Given the description of an element on the screen output the (x, y) to click on. 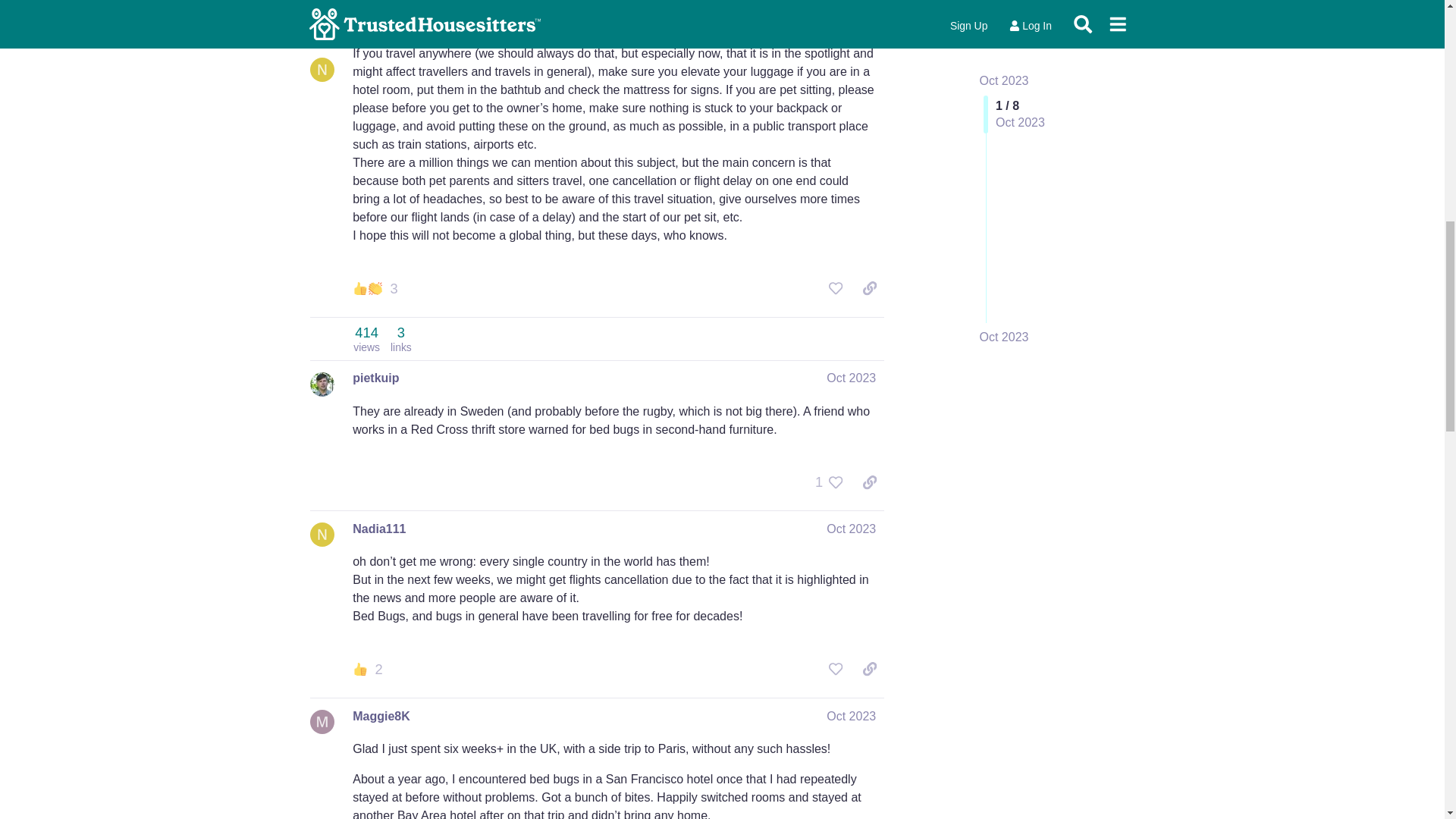
Maggie8K (366, 338)
Oct 2023 (381, 716)
Please sign up or log in to like this post (851, 528)
Oct 2023 (836, 482)
pietkuip (851, 377)
Nadia111 (375, 378)
Post date (379, 528)
Oct 2023 (851, 377)
copy a link to this post to clipboard (851, 716)
Please sign up or log in to like this post (869, 288)
